Given the description of an element on the screen output the (x, y) to click on. 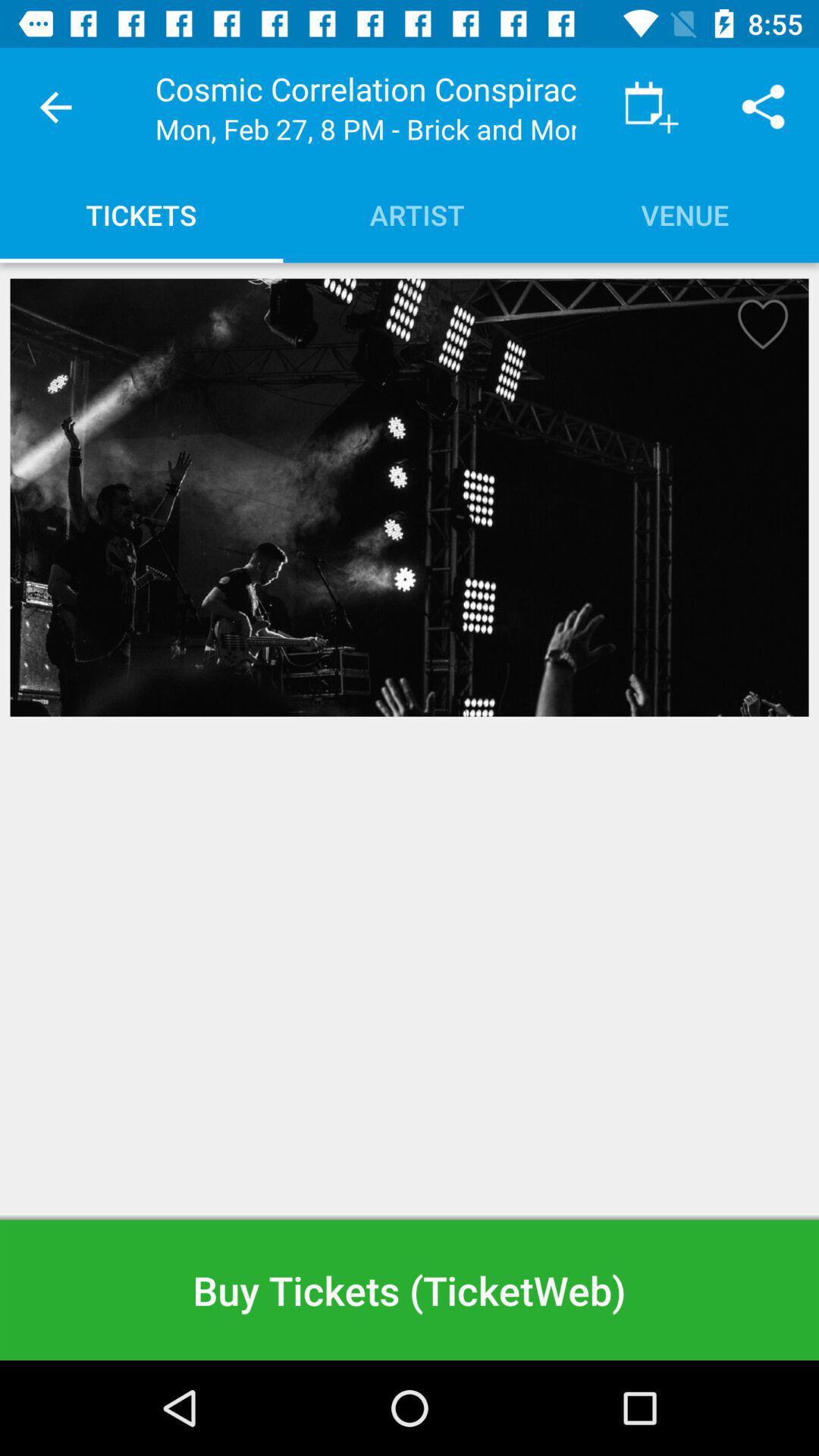
add to favorites (757, 329)
